Given the description of an element on the screen output the (x, y) to click on. 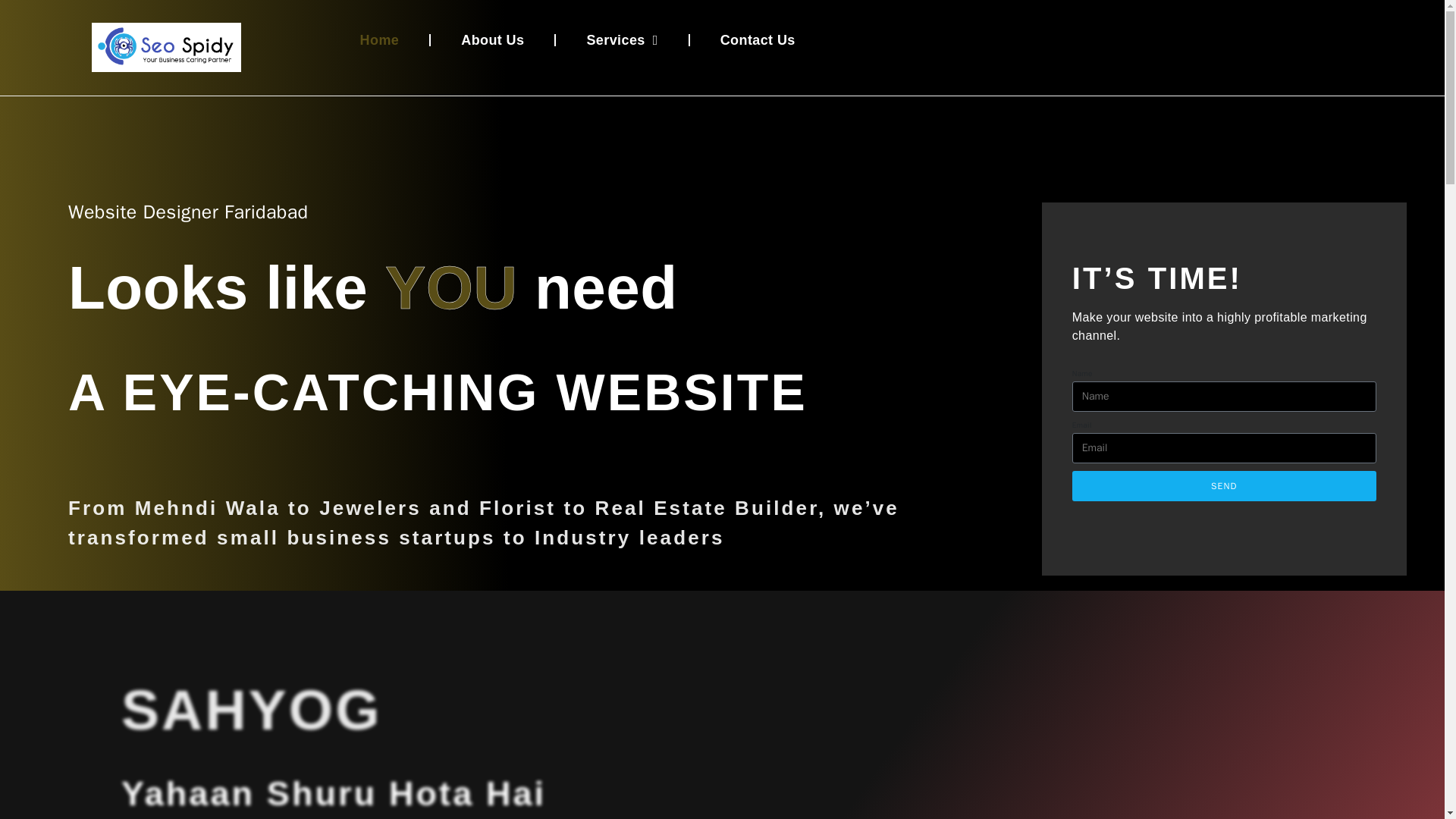
SEND (1223, 485)
Contact Us (758, 39)
About Us (491, 39)
Services (621, 39)
Home (379, 39)
